Given the description of an element on the screen output the (x, y) to click on. 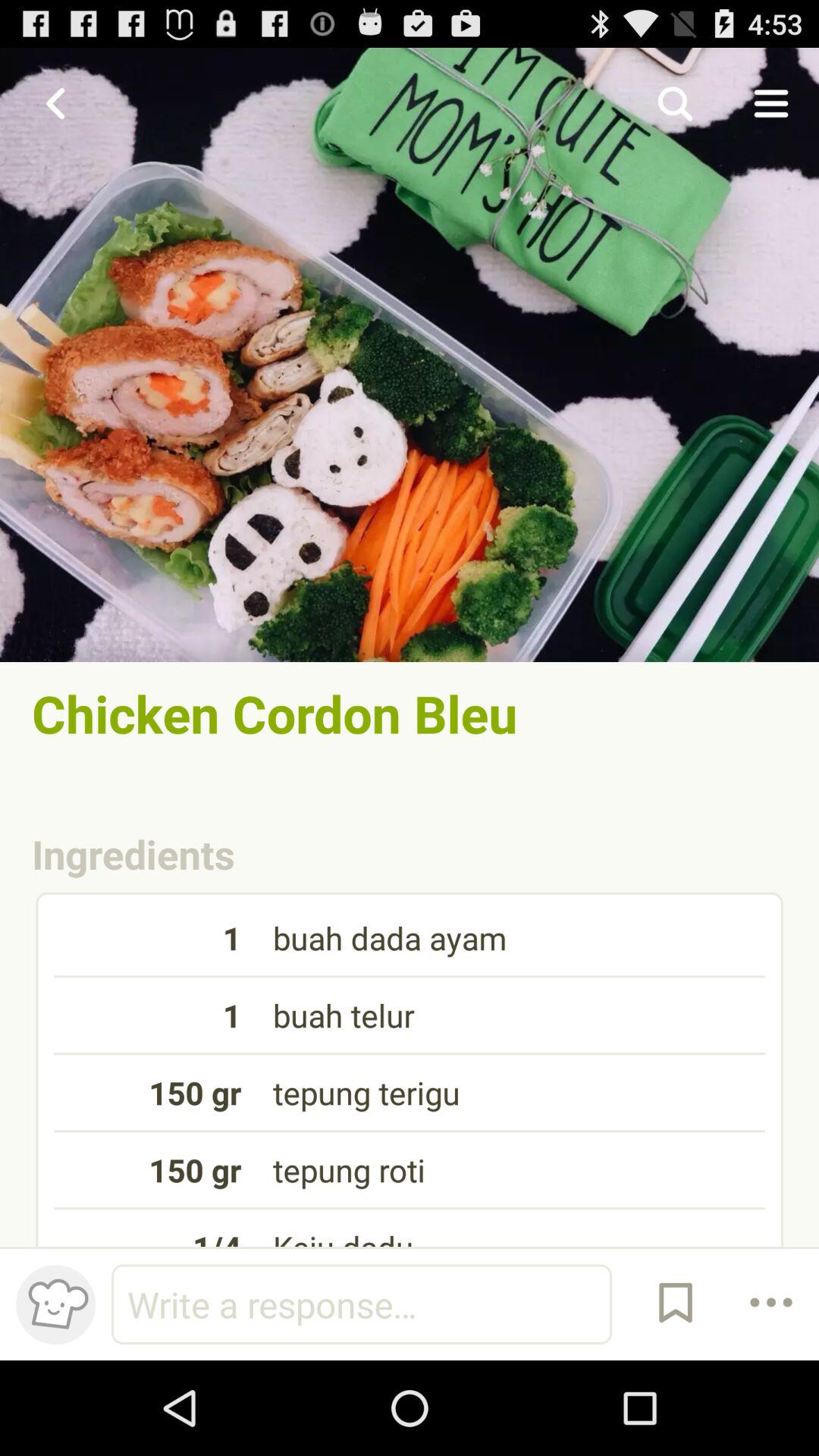
turn on the icon at the top left corner (55, 103)
